Given the description of an element on the screen output the (x, y) to click on. 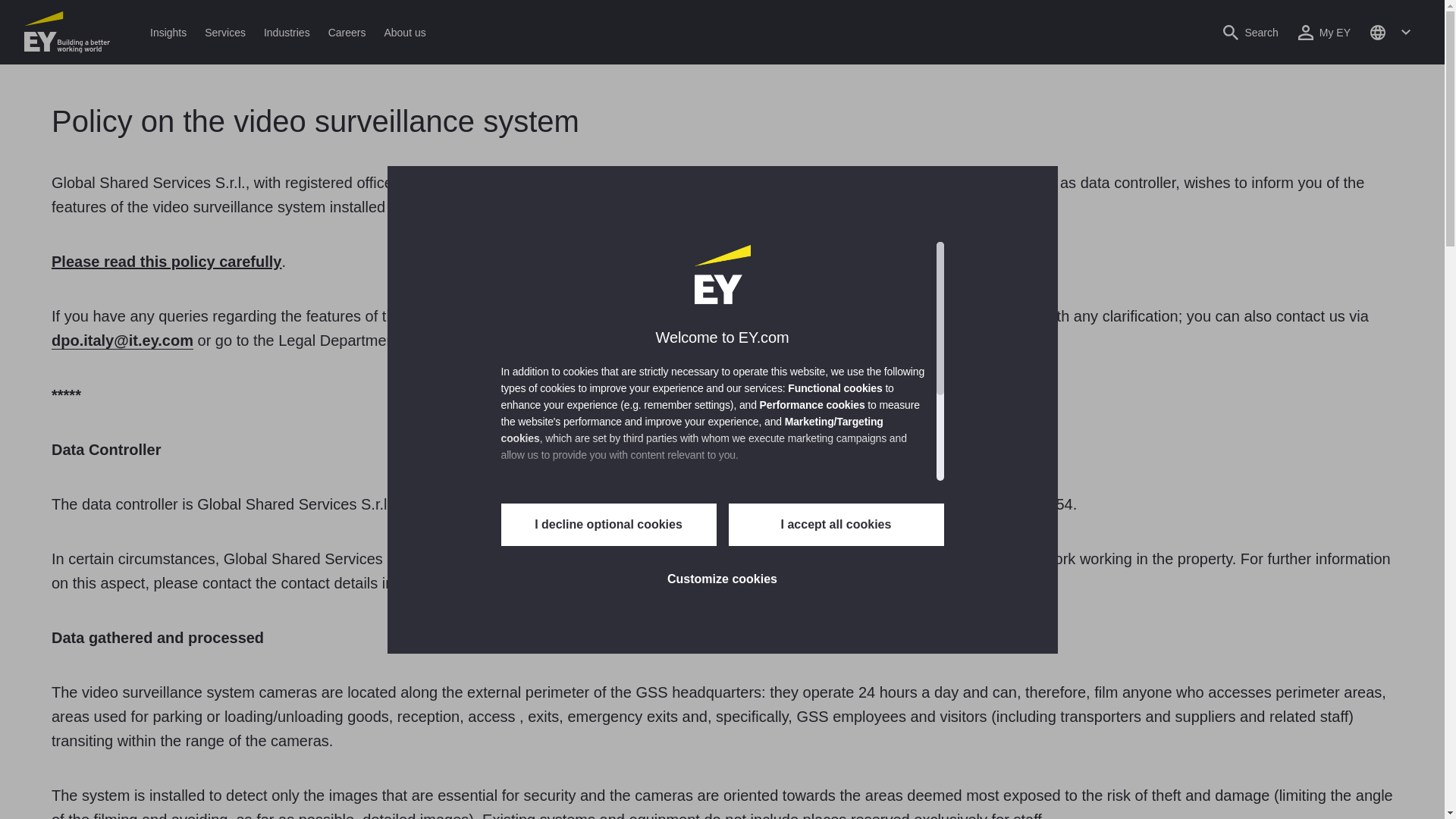
My EY (1324, 32)
Open search (1250, 32)
EY Homepage (67, 32)
